Given the description of an element on the screen output the (x, y) to click on. 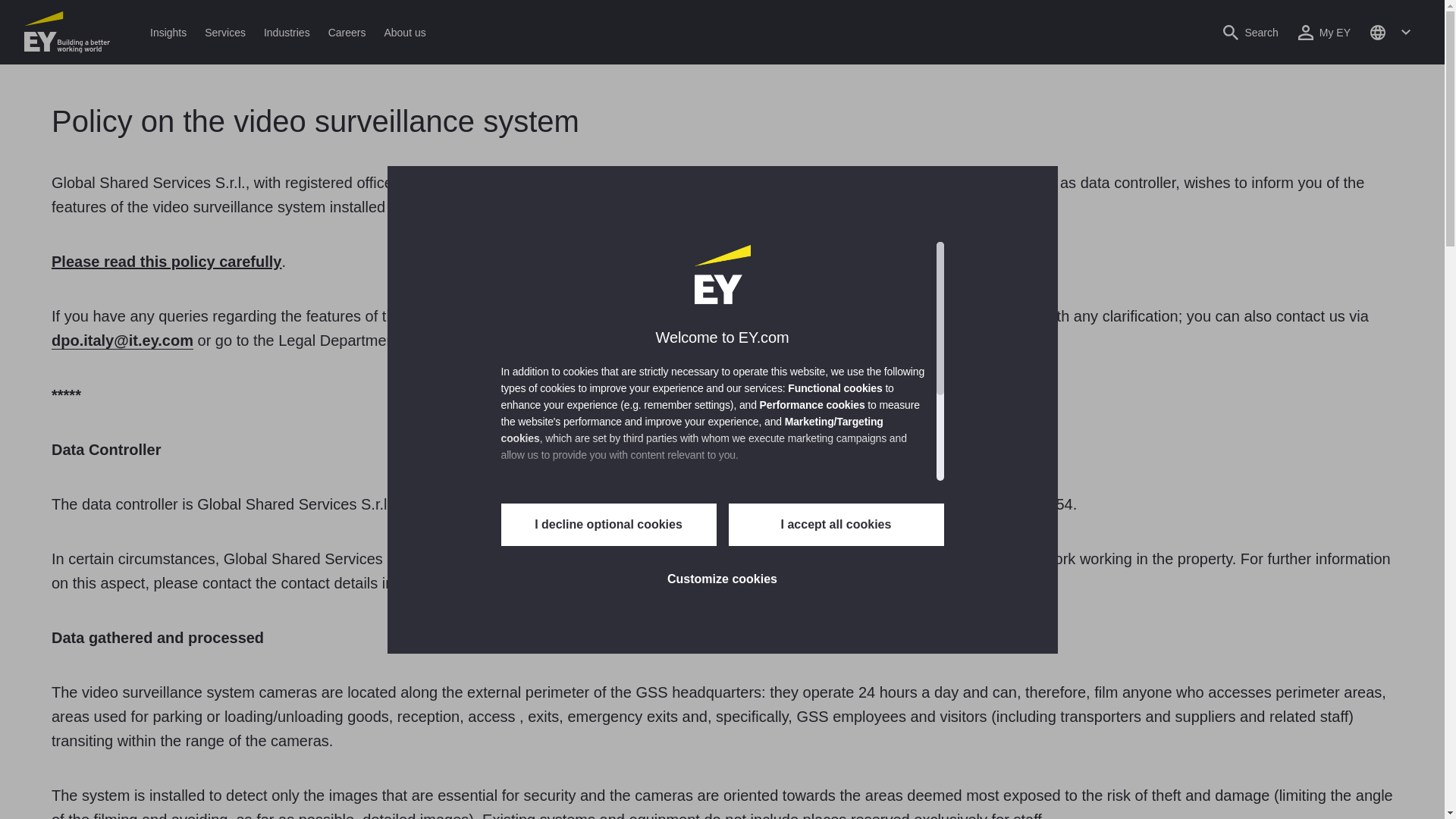
My EY (1324, 32)
Open search (1250, 32)
EY Homepage (67, 32)
